Given the description of an element on the screen output the (x, y) to click on. 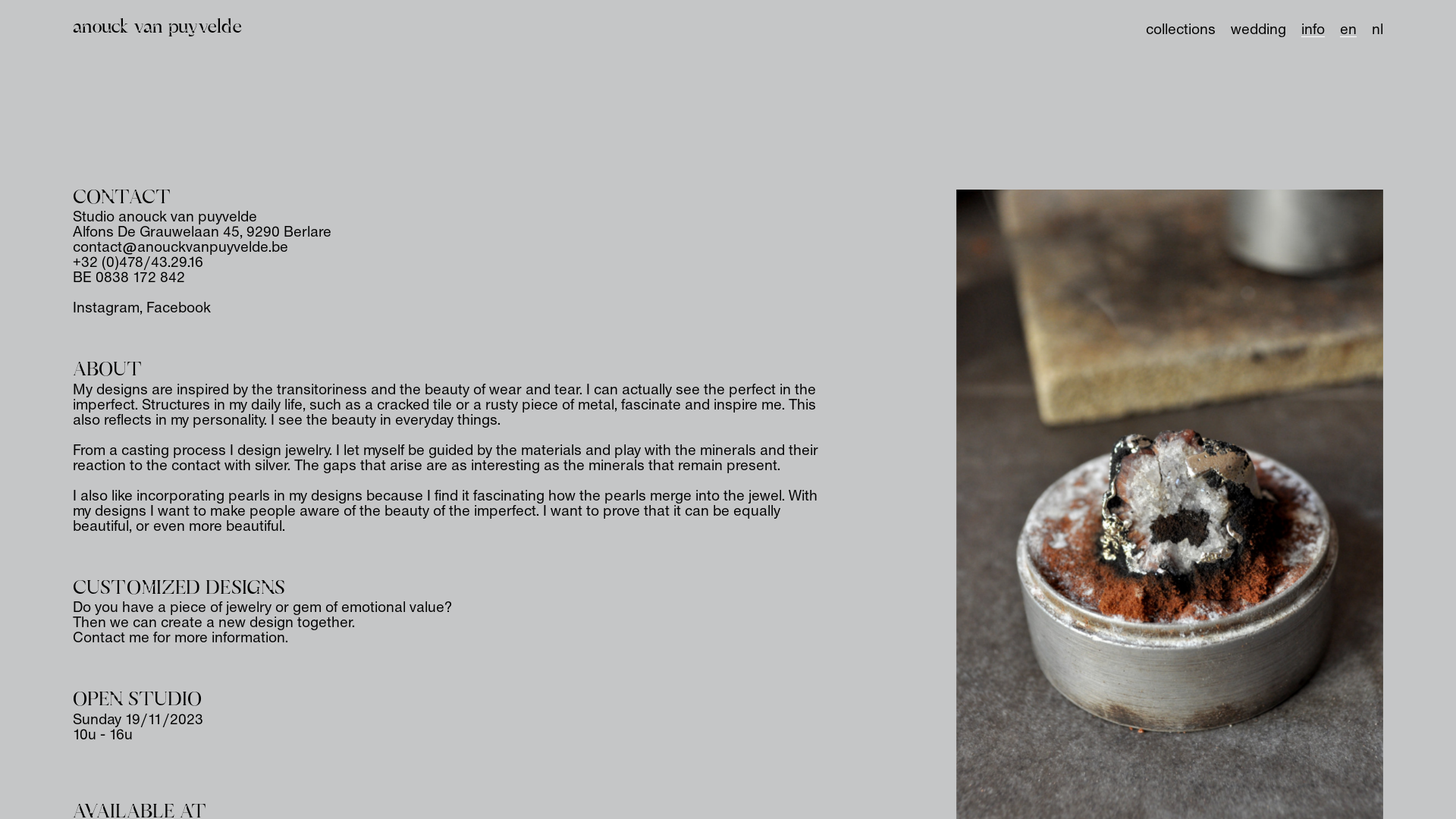
wedding Element type: text (1258, 29)
anouck van puyvelde Element type: text (156, 24)
Instagram Element type: text (105, 308)
Facebook Element type: text (178, 308)
info Element type: text (1312, 29)
en Element type: text (1347, 29)
contact@anouckvanpuyvelde.be Element type: text (180, 247)
nl Element type: text (1377, 29)
collections Element type: text (1180, 29)
BE 0838 172 842 Element type: text (128, 277)
